Given the description of an element on the screen output the (x, y) to click on. 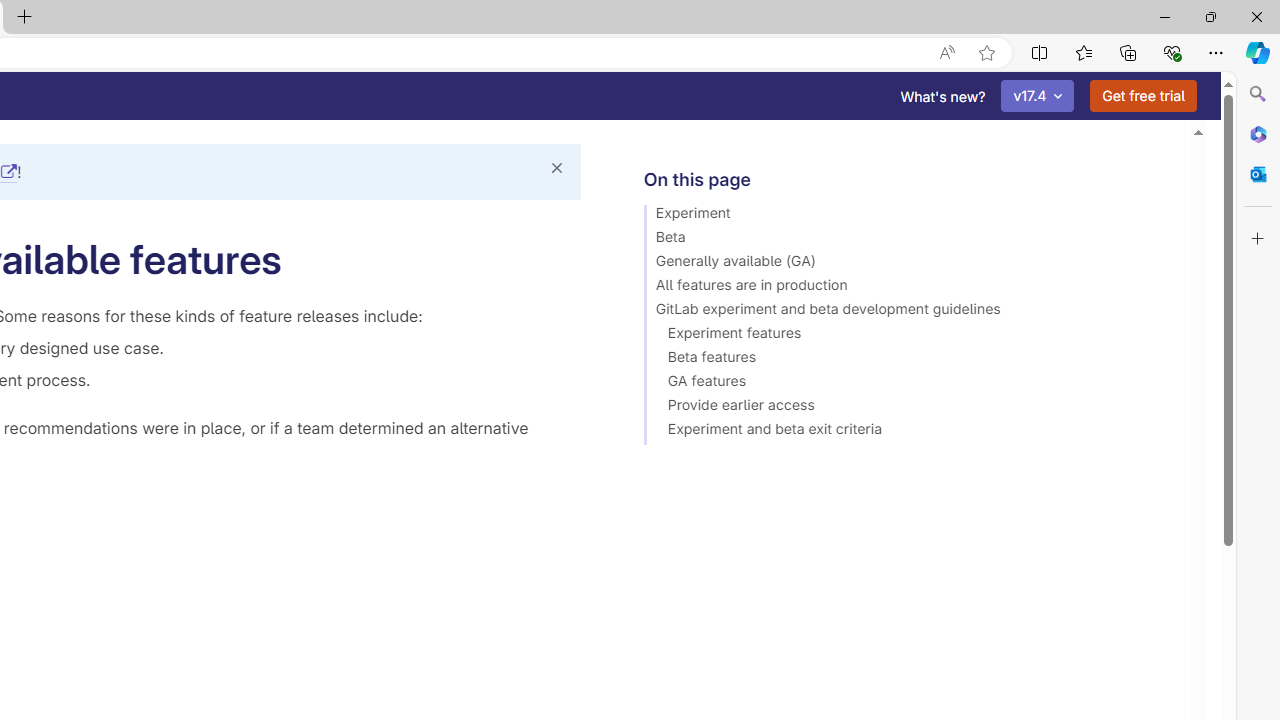
GA features (908, 384)
Experiment and beta exit criteria (908, 431)
Generally available (GA) (908, 264)
Beta features (908, 359)
What's new? (943, 96)
Dismiss (556, 168)
Get free trial (1143, 95)
Experiment and beta exit criteria (908, 431)
Experiment features (908, 336)
